Given the description of an element on the screen output the (x, y) to click on. 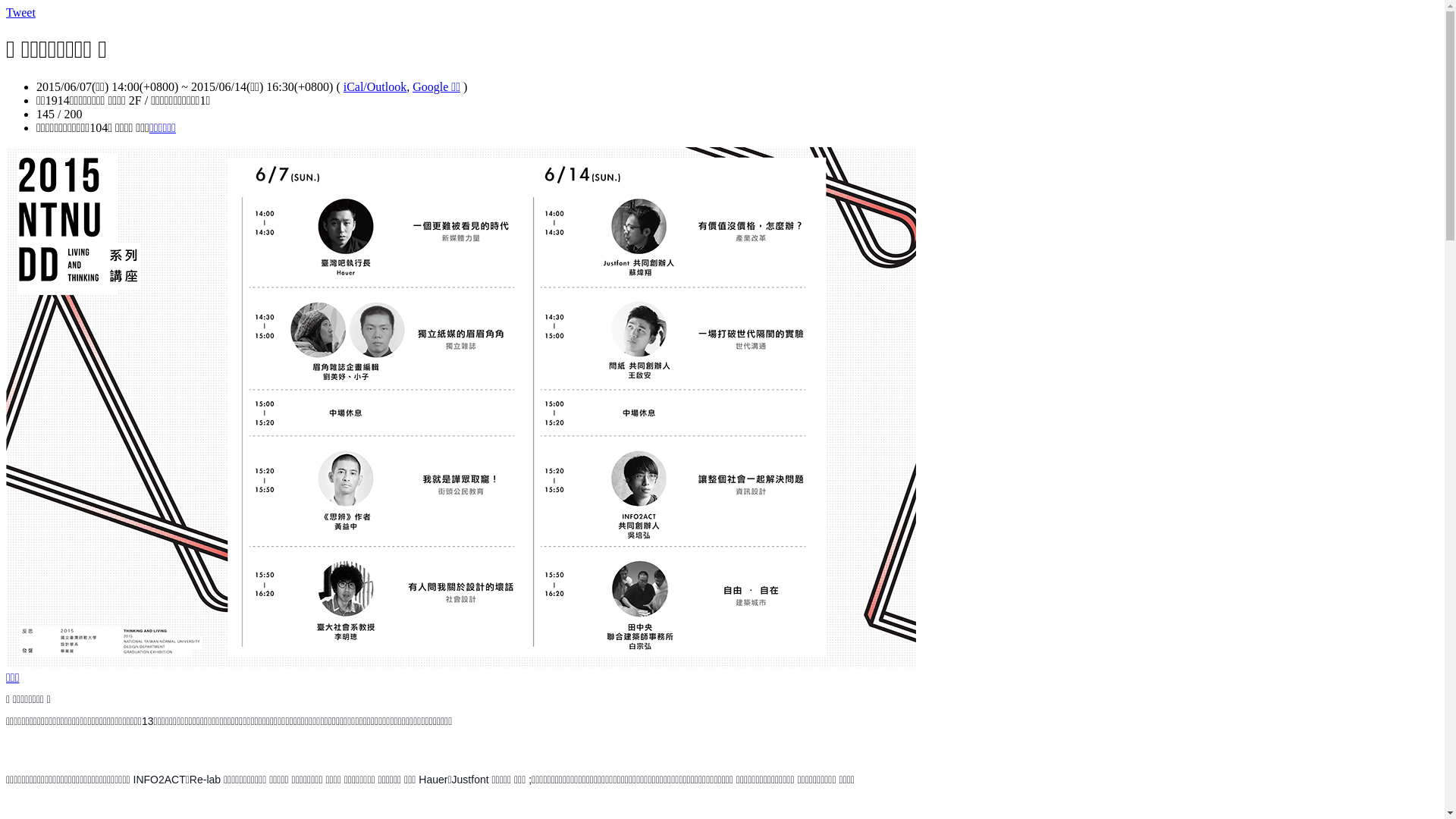
iCal/Outlook Element type: text (375, 86)
Tweet Element type: text (20, 12)
